Given the description of an element on the screen output the (x, y) to click on. 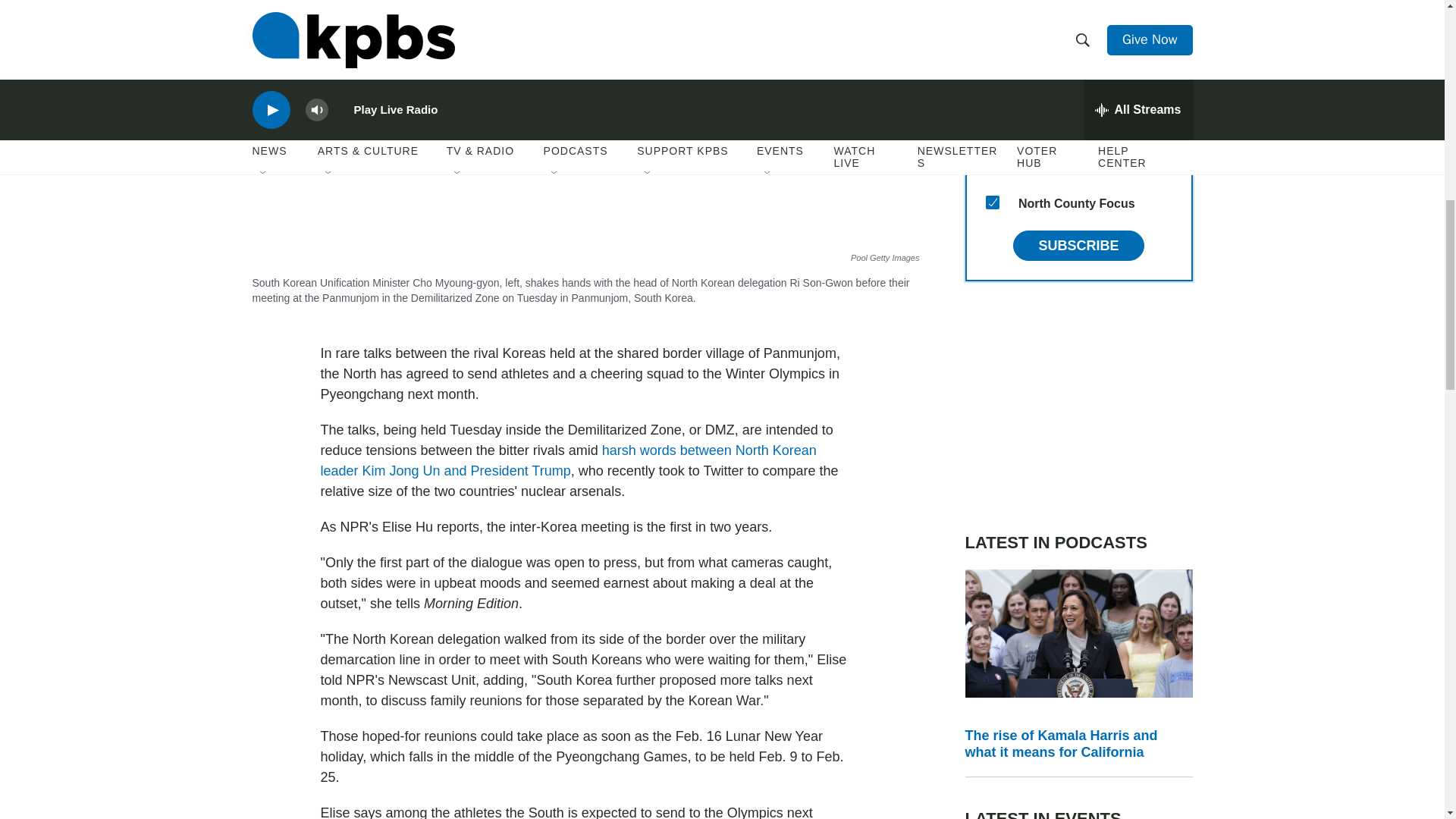
1 (991, 129)
5 (991, 20)
15 (991, 202)
8 (991, 165)
2 (991, 92)
6 (991, 56)
